Given the description of an element on the screen output the (x, y) to click on. 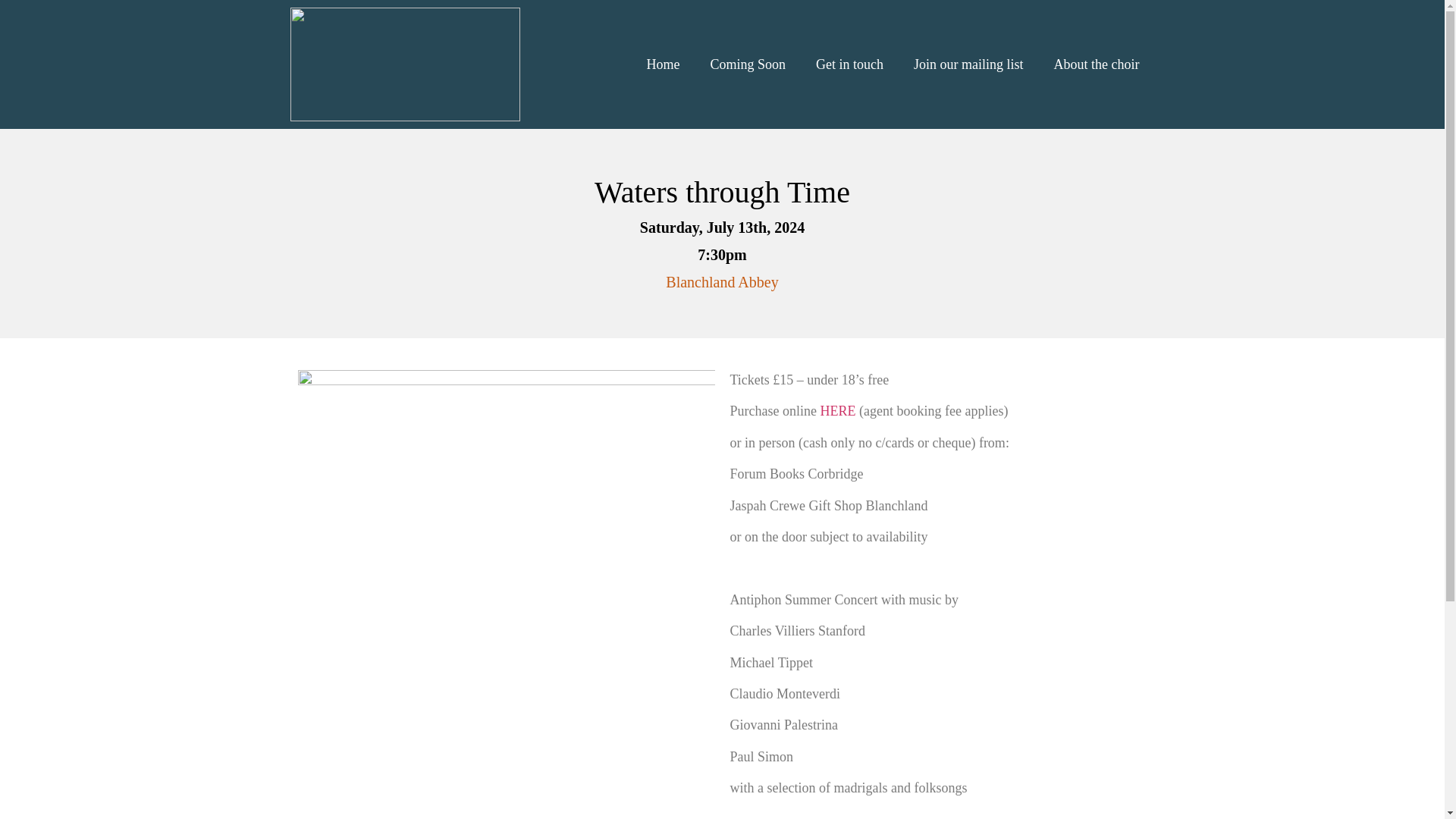
About the choir (1096, 63)
Join our mailing list (968, 63)
Get in touch (849, 63)
Home (662, 63)
HERE (837, 410)
Coming Soon (747, 63)
